Given the description of an element on the screen output the (x, y) to click on. 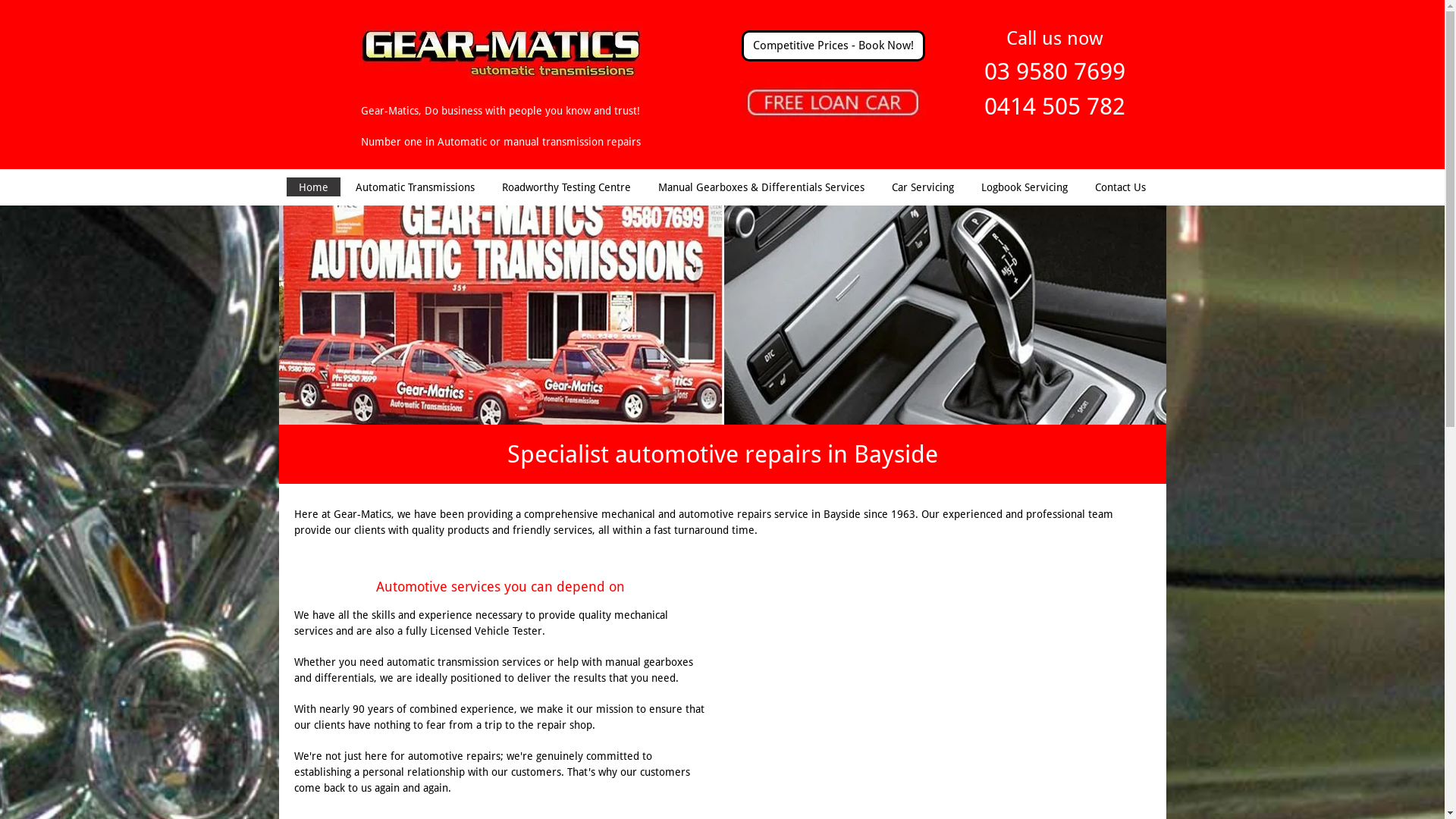
Car Servicing Element type: text (922, 187)
03 9580 7699 Element type: text (1054, 70)
Roadworthy Testing Centre Element type: text (566, 187)
Contact Us Element type: text (1119, 187)
Home Element type: text (313, 187)
gear matics free loan car Element type: hover (833, 101)
gear matics business logo Element type: hover (499, 51)
Manual Gearboxes & Differentials Services Element type: text (761, 187)
Competitive Prices - Book Now! Element type: text (833, 45)
Automatic Transmissions Element type: text (414, 187)
Logbook Servicing Element type: text (1024, 187)
0414 505 782 Element type: text (1054, 105)
